Given the description of an element on the screen output the (x, y) to click on. 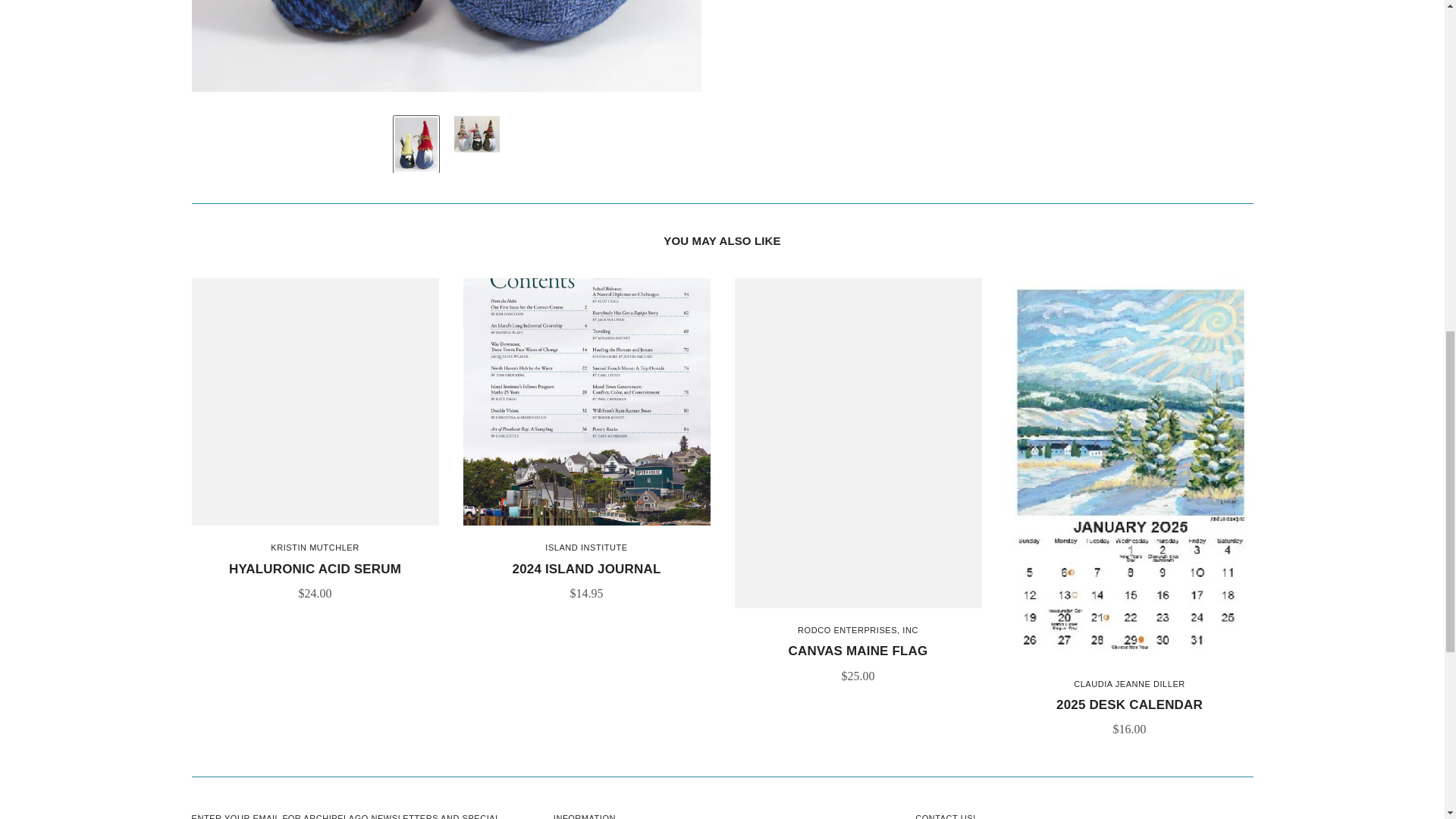
Kristin Mutchler (314, 547)
Island Institute (585, 547)
Claudia Jeanne Diller (1129, 683)
Rodco Enterprises, Inc (857, 629)
